Given the description of an element on the screen output the (x, y) to click on. 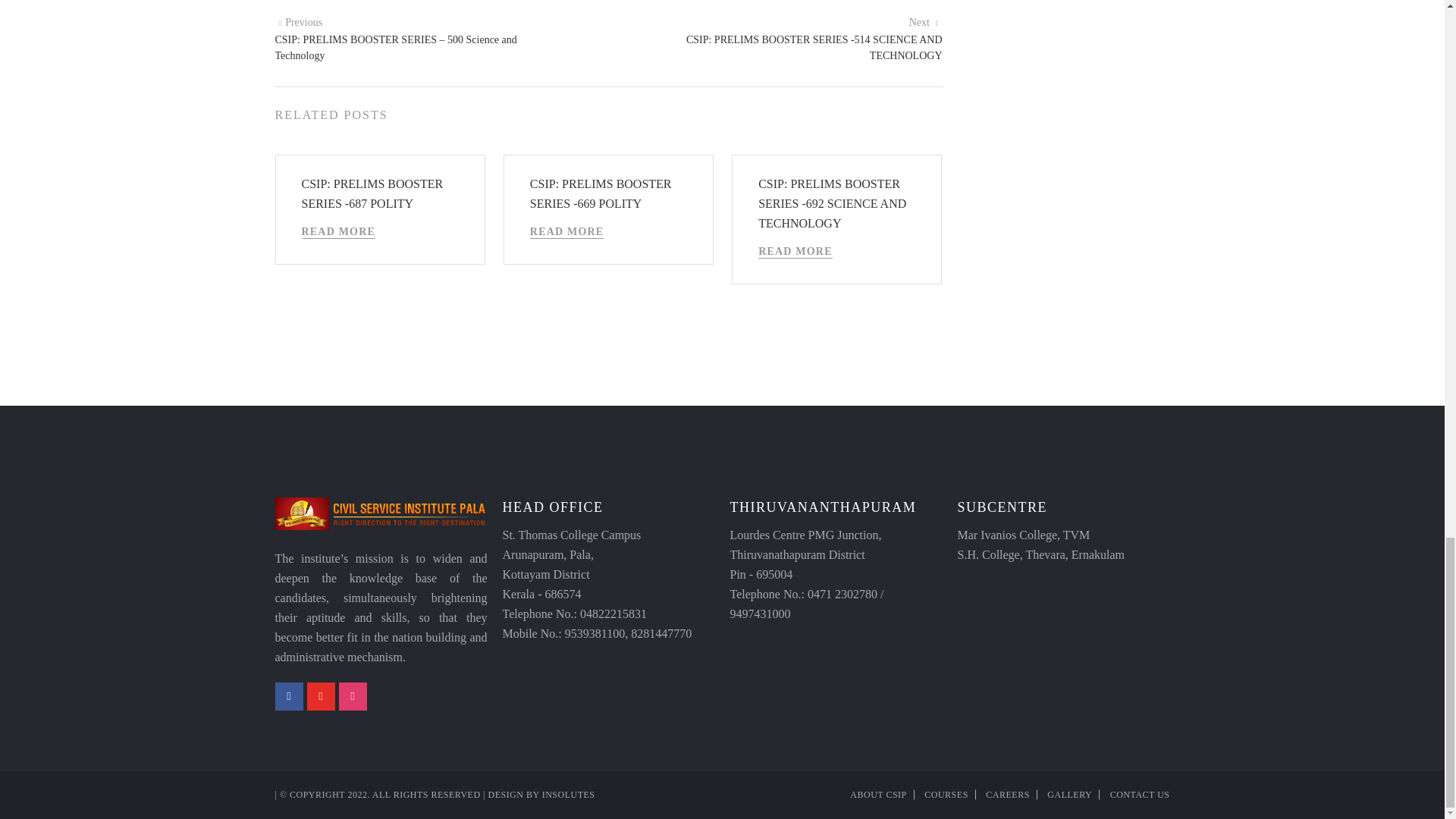
CSIP: PRELIMS BOOSTER SERIES -514 SCIENCE AND TECHNOLOGY (925, 21)
